Given the description of an element on the screen output the (x, y) to click on. 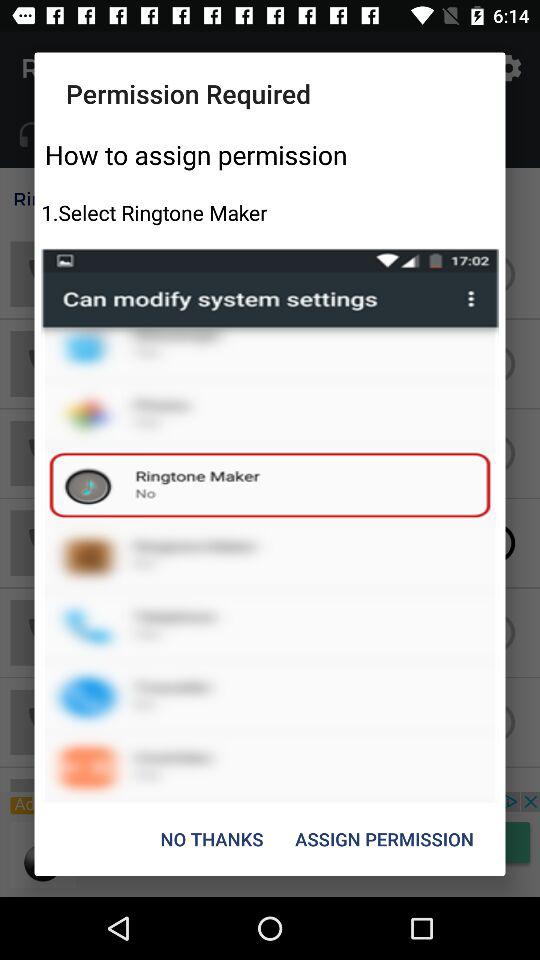
tap item to the left of the assign permission item (211, 838)
